Given the description of an element on the screen output the (x, y) to click on. 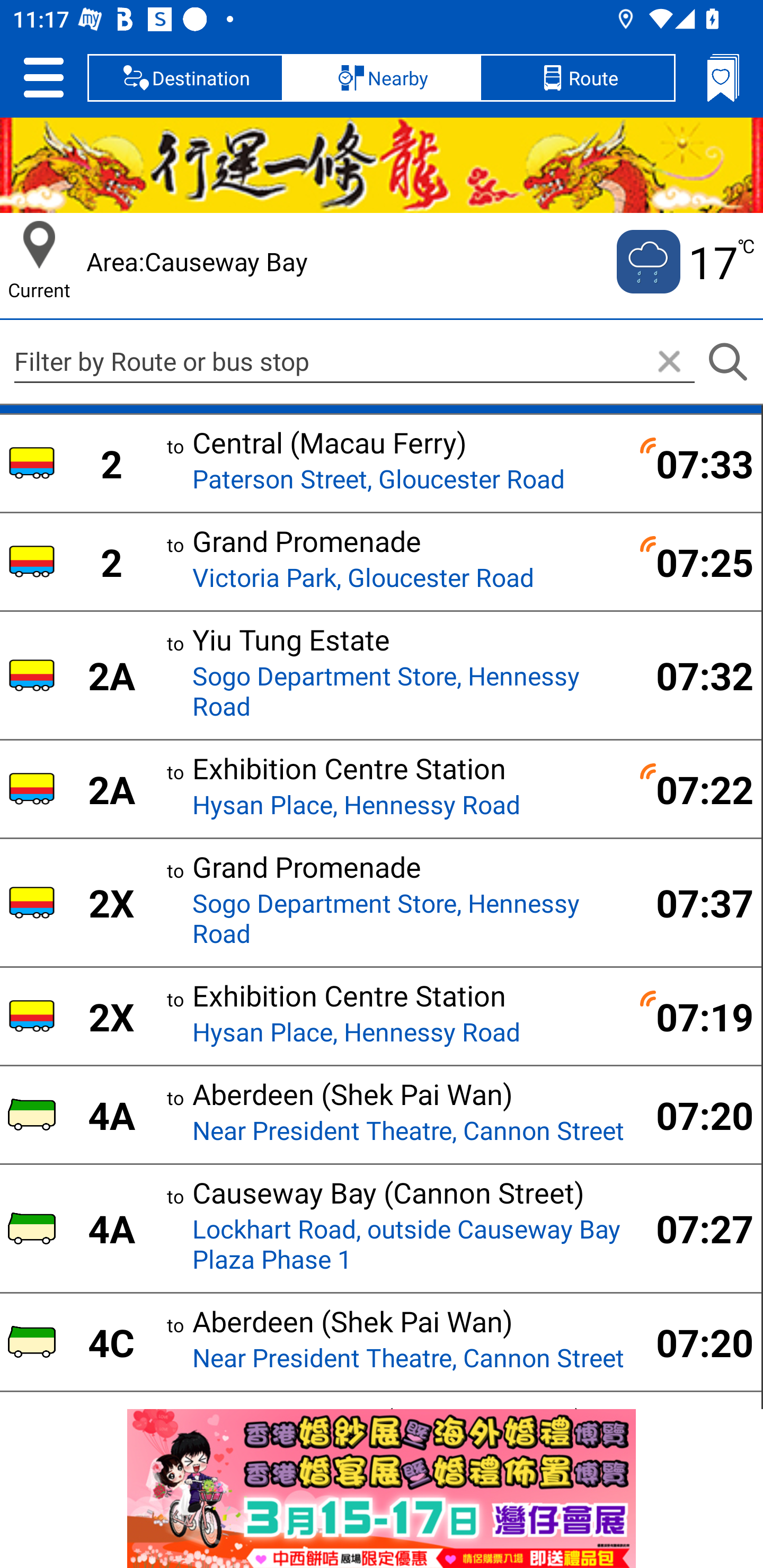
Destination (185, 77)
Nearby, selected (381, 77)
Route (577, 77)
Bookmarks (723, 77)
Setting (43, 77)
Lunar New Year 2024 (381, 165)
Current Location (38, 244)
Current temputure is  17  no 17 ℃ (684, 261)
Filter by Route or bus stop (354, 361)
Search (727, 362)
Clear (669, 361)
07:33 (693, 463)
07:25 (693, 562)
07:32 (693, 674)
07:22 (693, 789)
07:37 (693, 902)
07:19 (693, 1016)
07:20 (693, 1114)
07:27 (693, 1228)
07:20 (693, 1342)
